Given the description of an element on the screen output the (x, y) to click on. 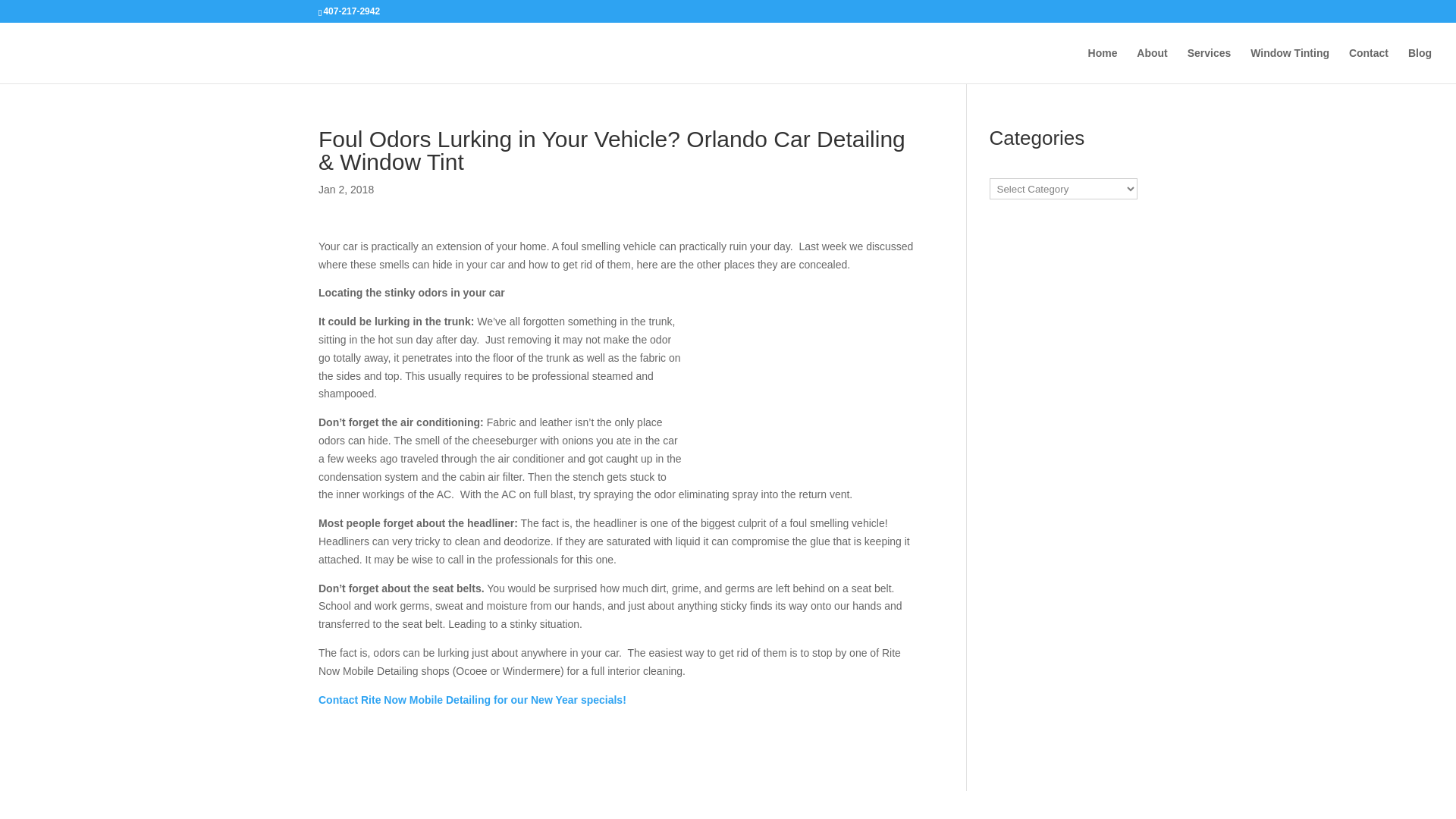
Contact Rite Now Mobile Detailing for our New Year specials! (472, 699)
Services (1209, 65)
Contact (1369, 65)
Window Tinting (1289, 65)
